Given the description of an element on the screen output the (x, y) to click on. 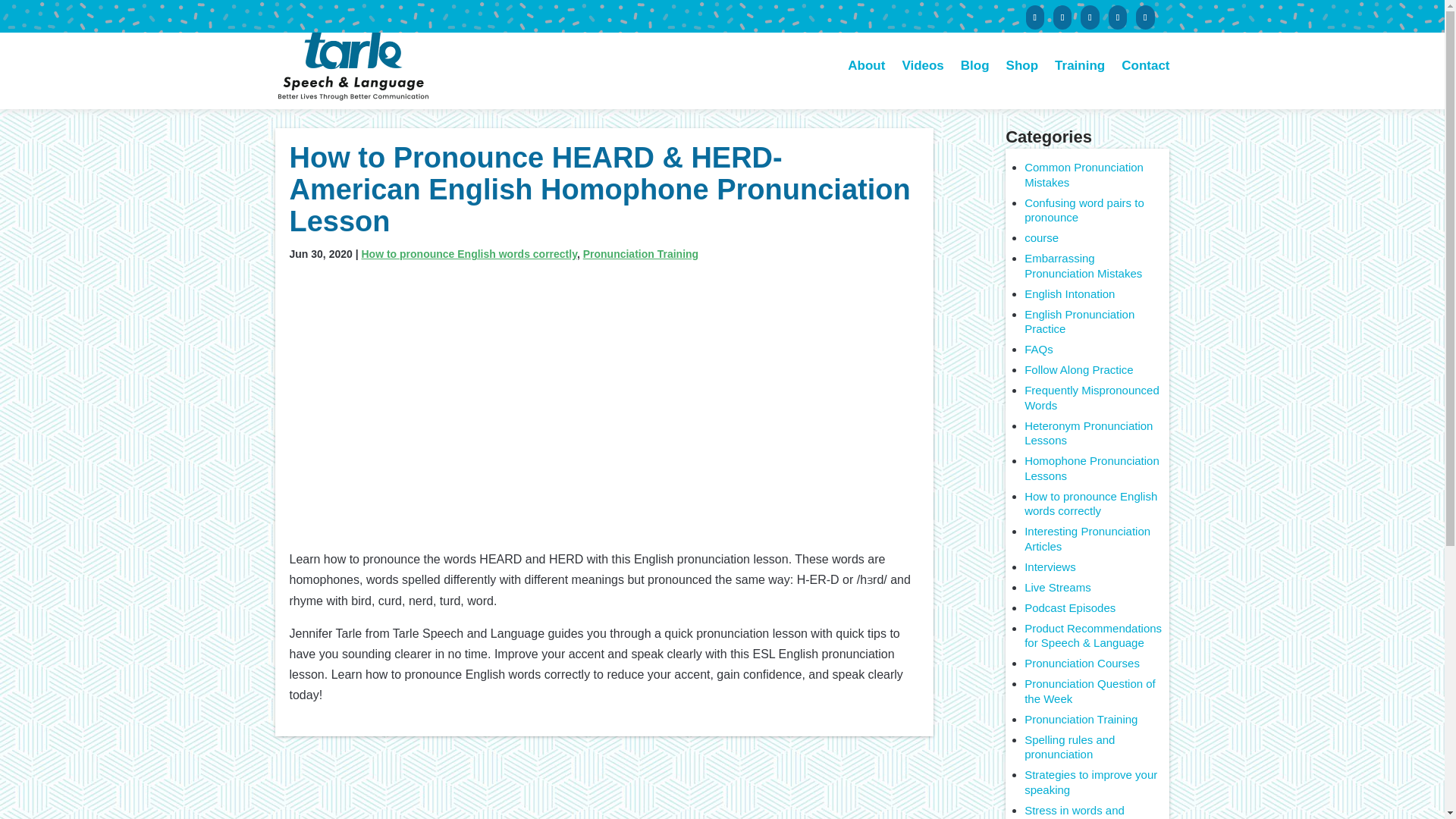
FAQs (1038, 349)
English Intonation (1070, 293)
Interviews (1050, 566)
Contact (1145, 84)
Pronunciation Training (1081, 718)
Pronunciation Question of the Week (1090, 691)
How to pronounce English words correctly (1091, 503)
Homophone Pronunciation Lessons (1091, 468)
Follow Along Practice (1078, 369)
Spelling rules and pronunciation (1070, 747)
